Given the description of an element on the screen output the (x, y) to click on. 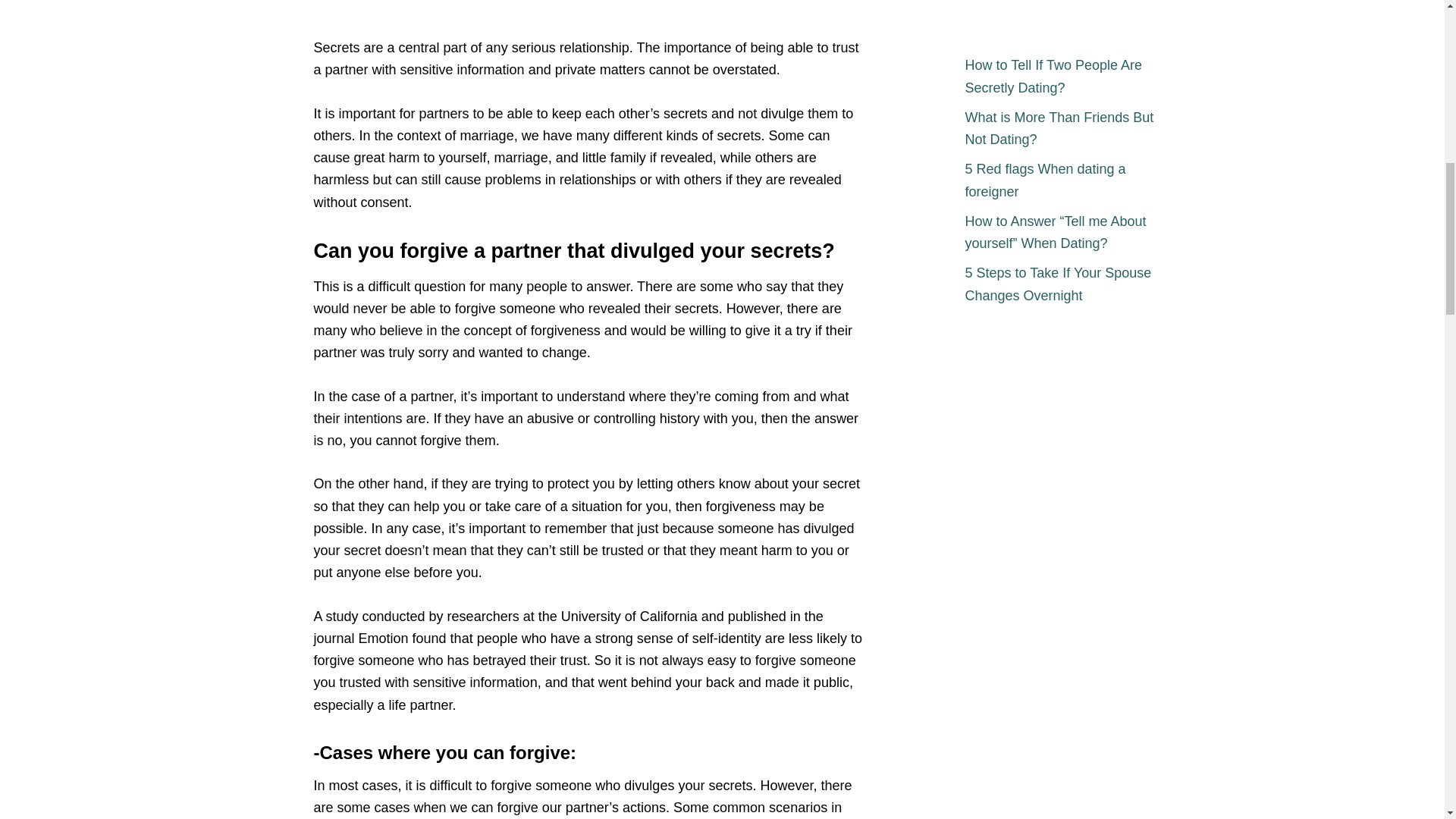
5 Red flags When dating a foreigner (1062, 180)
What is More Than Friends But Not Dating? (1062, 129)
5 Steps to Take If Your Spouse Changes Overnight (1062, 284)
How to Tell If Two People Are Secretly Dating? (1062, 76)
